Given the description of an element on the screen output the (x, y) to click on. 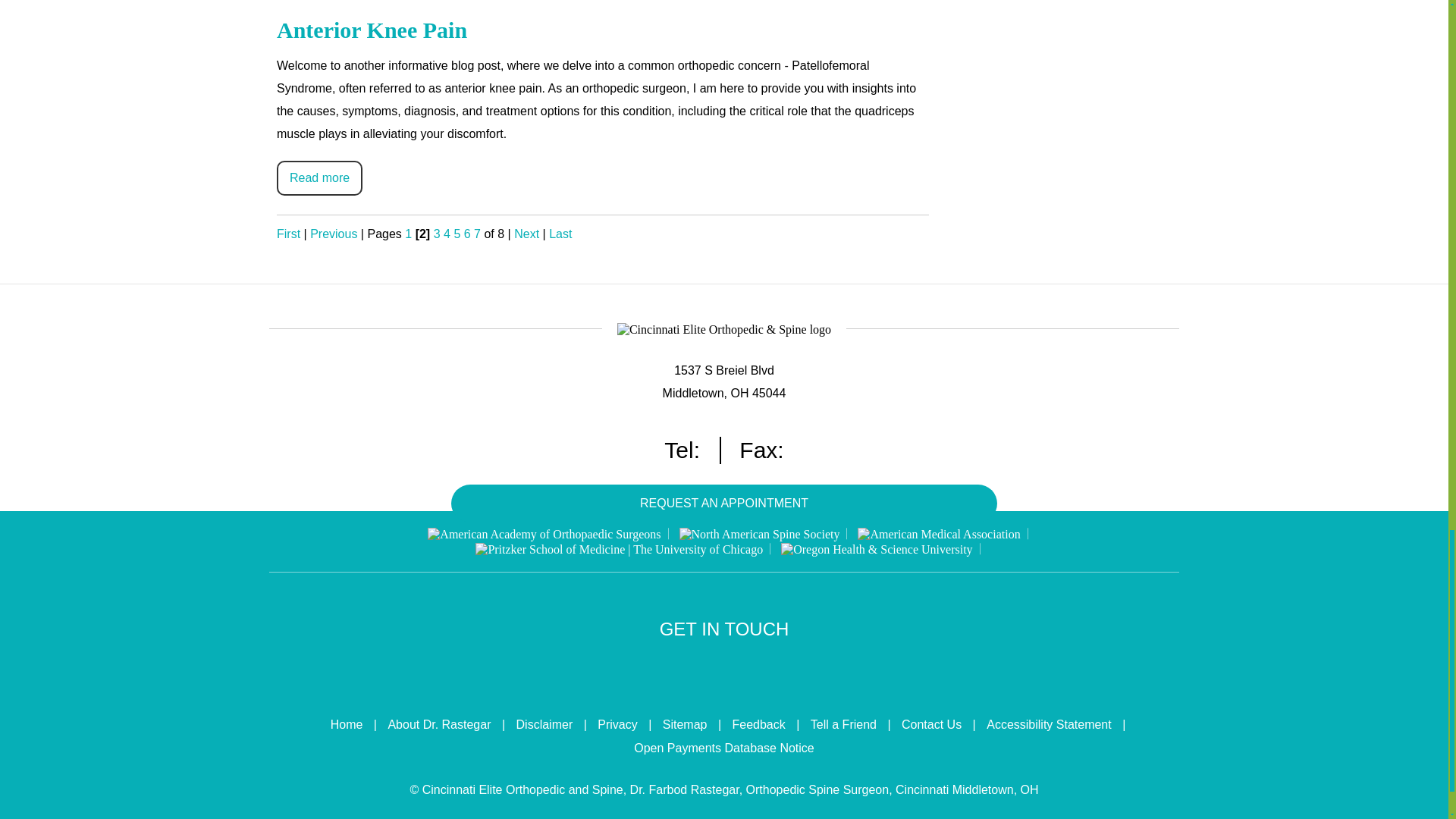
Next Page (525, 233)
Previous Page (333, 233)
Last Page (560, 233)
First Page (287, 233)
Read more about Anterior Knee Pain (319, 177)
